Given the description of an element on the screen output the (x, y) to click on. 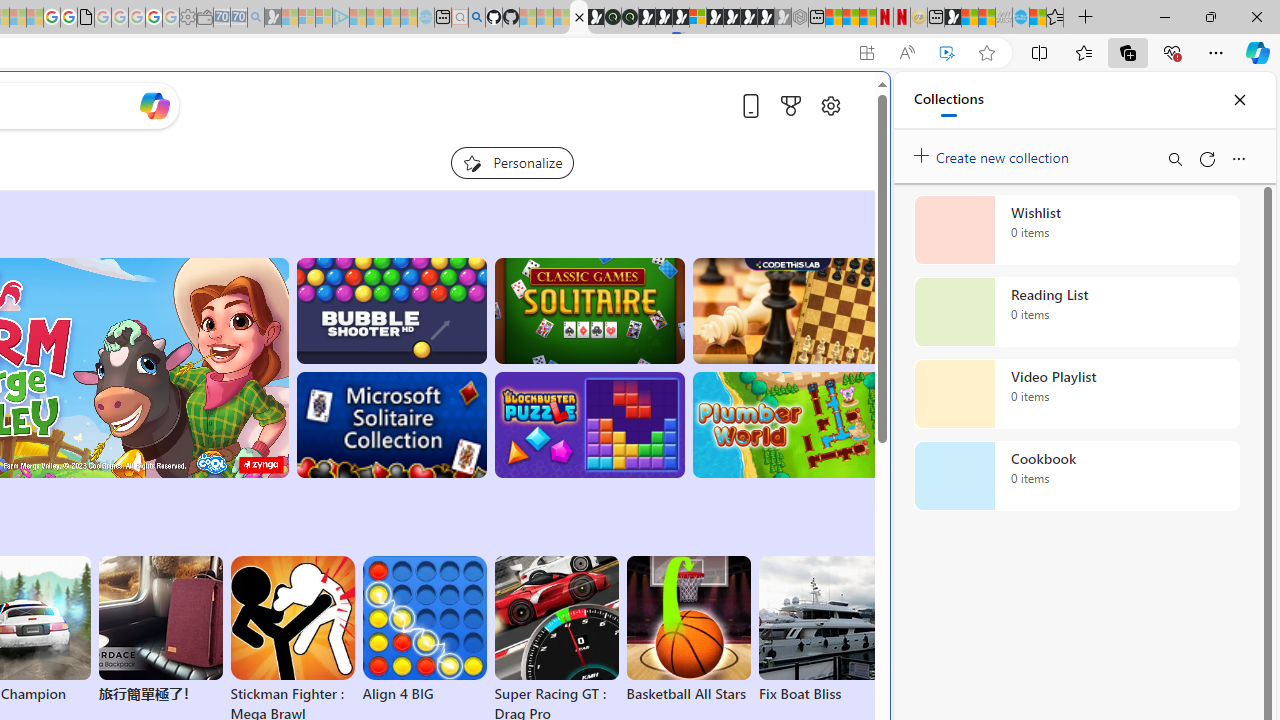
Search or enter web address (343, 191)
Frequently visited (418, 265)
Create new collection (994, 153)
